Given the description of an element on the screen output the (x, y) to click on. 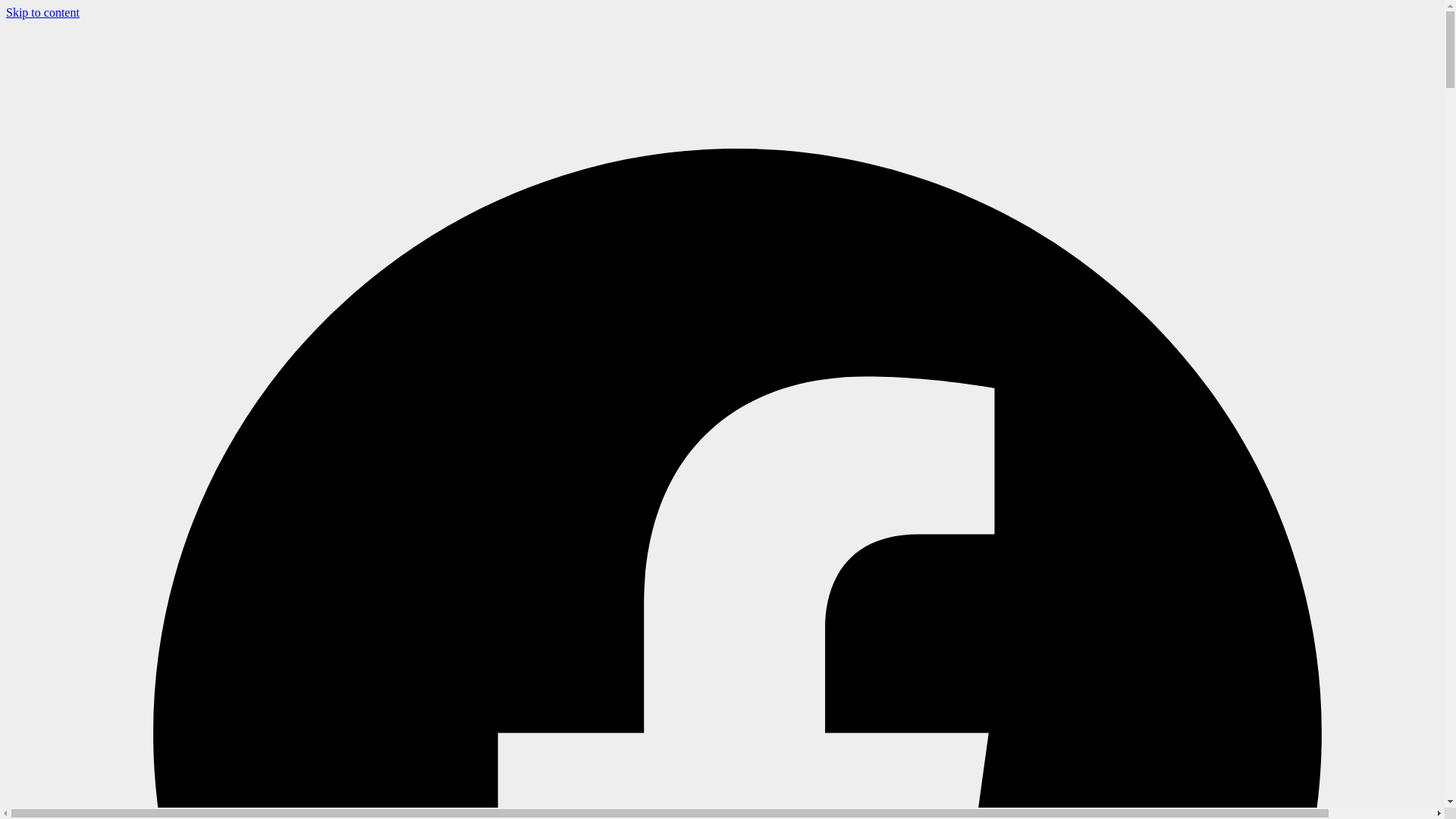
Skip to content (42, 11)
